Given the description of an element on the screen output the (x, y) to click on. 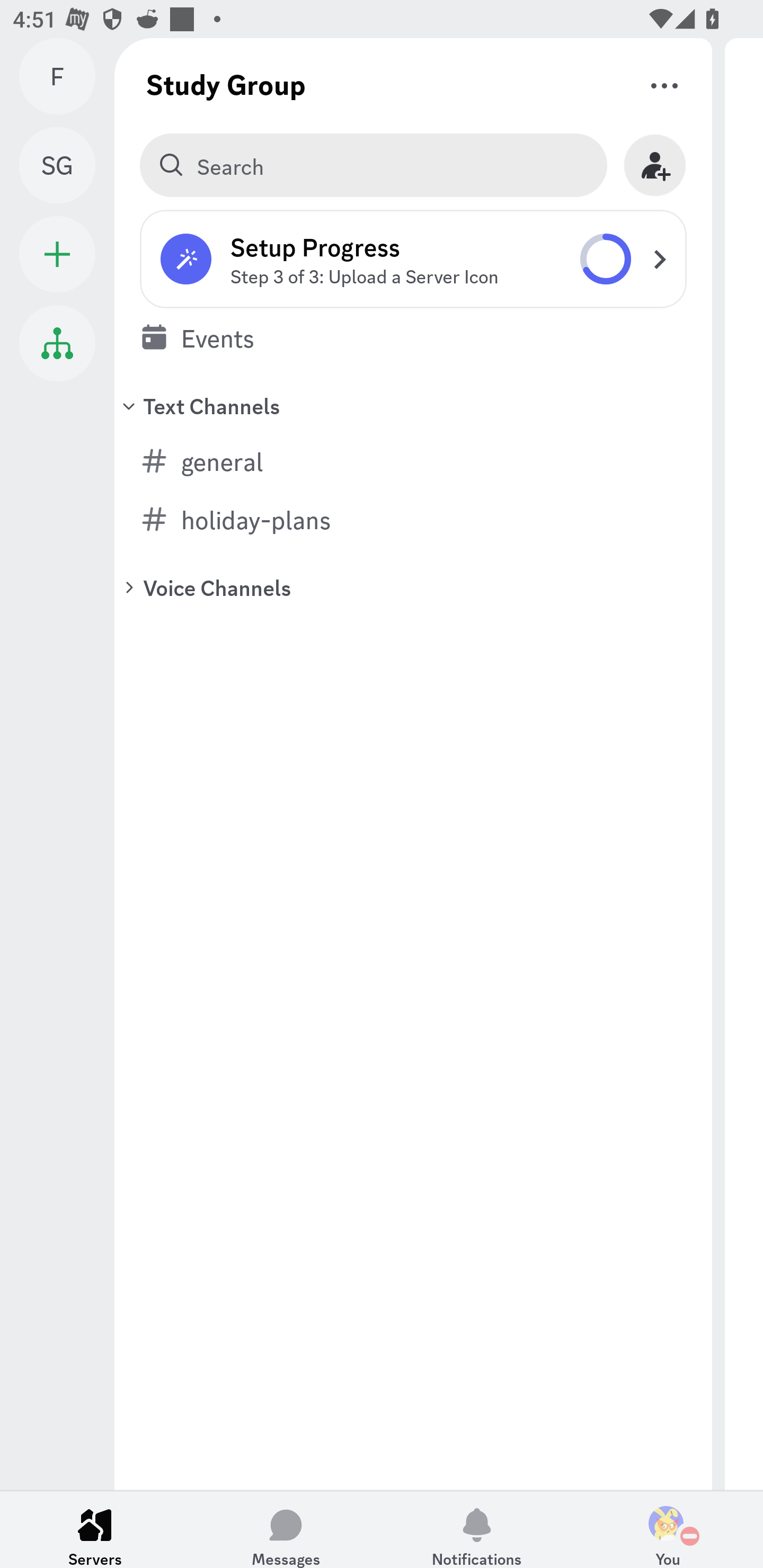
  Friends F (66, 75)
Study Group (226, 83)
  Study Group SG (66, 165)
Search (373, 165)
Invite (654, 165)
Add a Server (57, 253)
Student Hub (57, 343)
Events (413, 336)
Text Channels (412, 404)
general (text channel) general (413, 460)
holiday-plans (text channel) holiday-plans (413, 518)
Voice Channels (412, 586)
Servers (95, 1529)
Messages (285, 1529)
Notifications (476, 1529)
You (667, 1529)
